Given the description of an element on the screen output the (x, y) to click on. 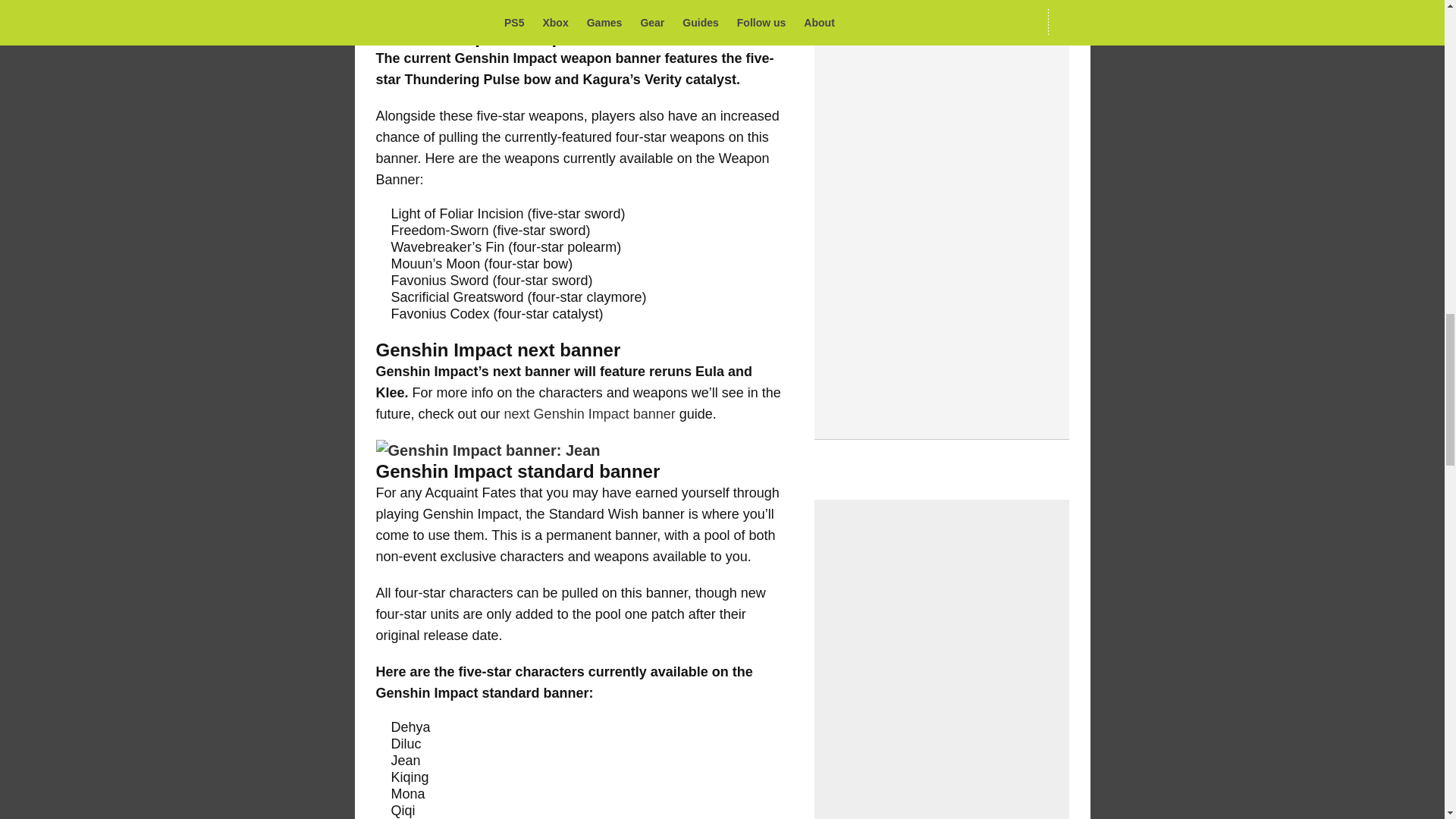
genshin-impact-banner-standard (487, 450)
